Given the description of an element on the screen output the (x, y) to click on. 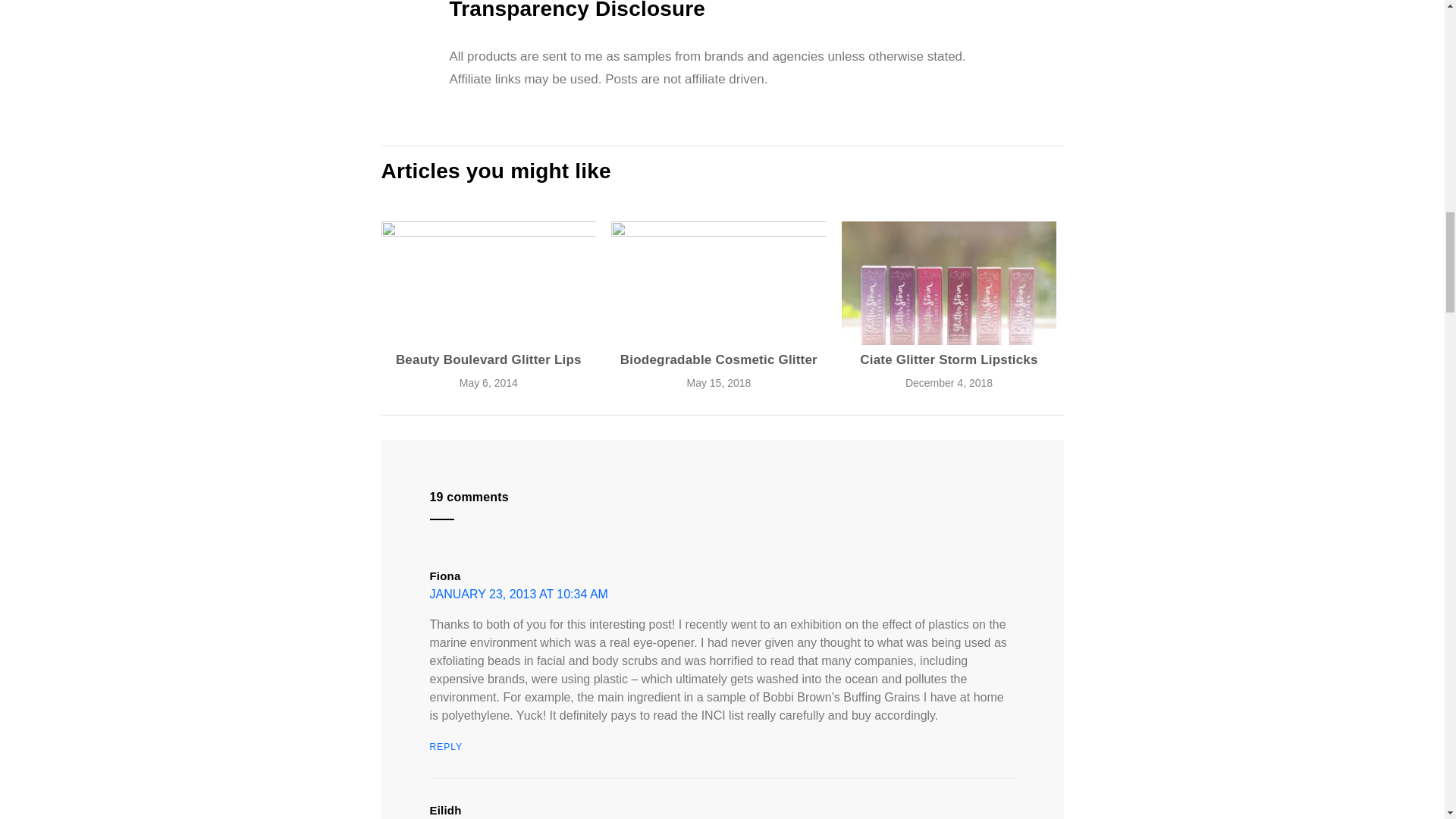
Biodegradable Cosmetic Glitter (719, 359)
REPLY (445, 747)
Ciate Glitter Storm Lipsticks (949, 282)
Ciate Glitter Storm Lipsticks (949, 359)
Ciate Glitter Storm Lipsticks (949, 359)
Beauty Boulevard Glitter Lips (487, 359)
JANUARY 23, 2013 AT 10:34 AM (518, 593)
Beauty Boulevard Glitter Lips (487, 282)
Beauty Boulevard Glitter Lips (487, 359)
Biodegradable Cosmetic Glitter (719, 359)
Biodegradable Cosmetic Glitter (719, 282)
